Given the description of an element on the screen output the (x, y) to click on. 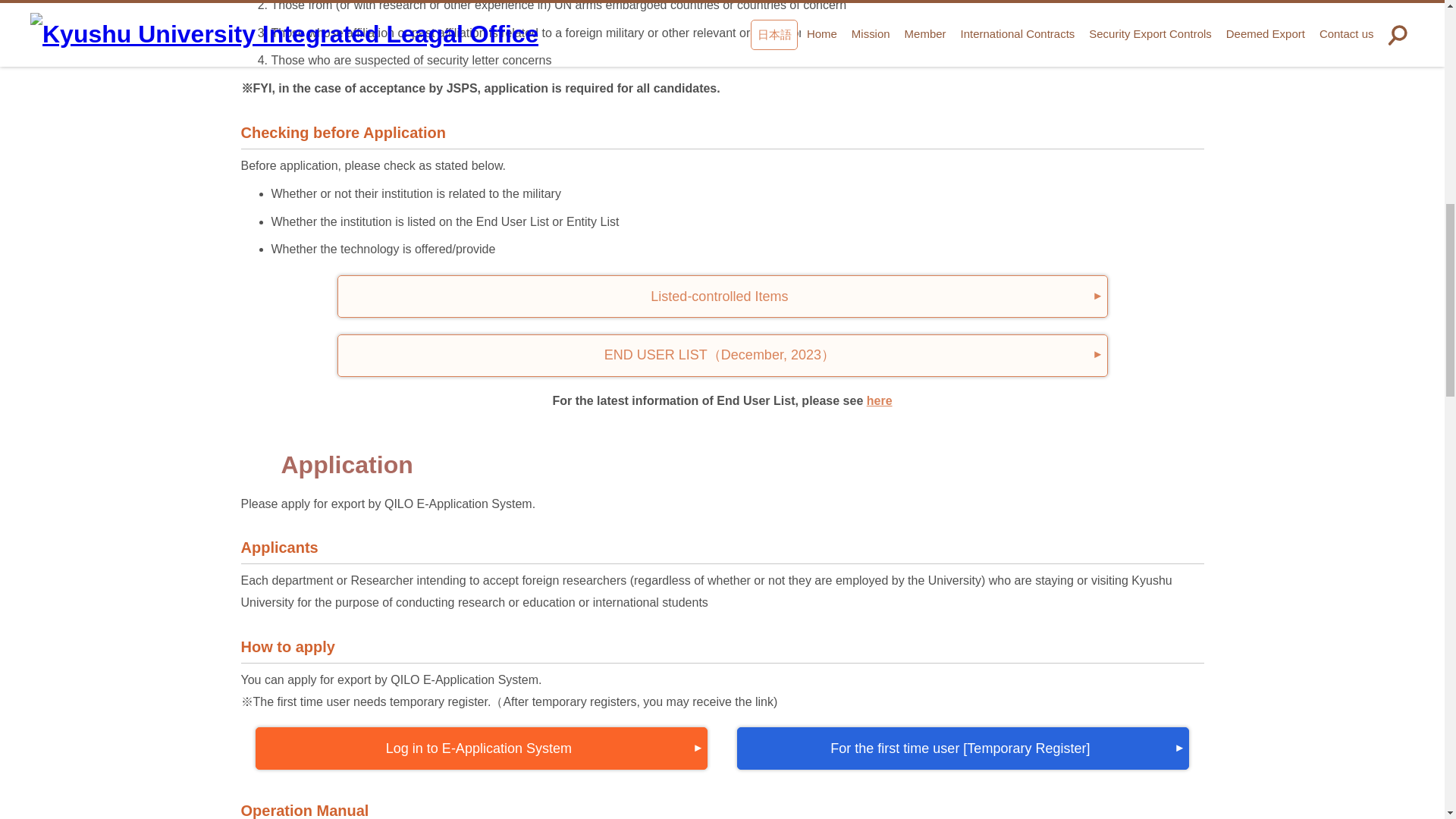
Log in to E-Application System (481, 748)
Listed-controlled Items (721, 296)
here (879, 400)
